Given the description of an element on the screen output the (x, y) to click on. 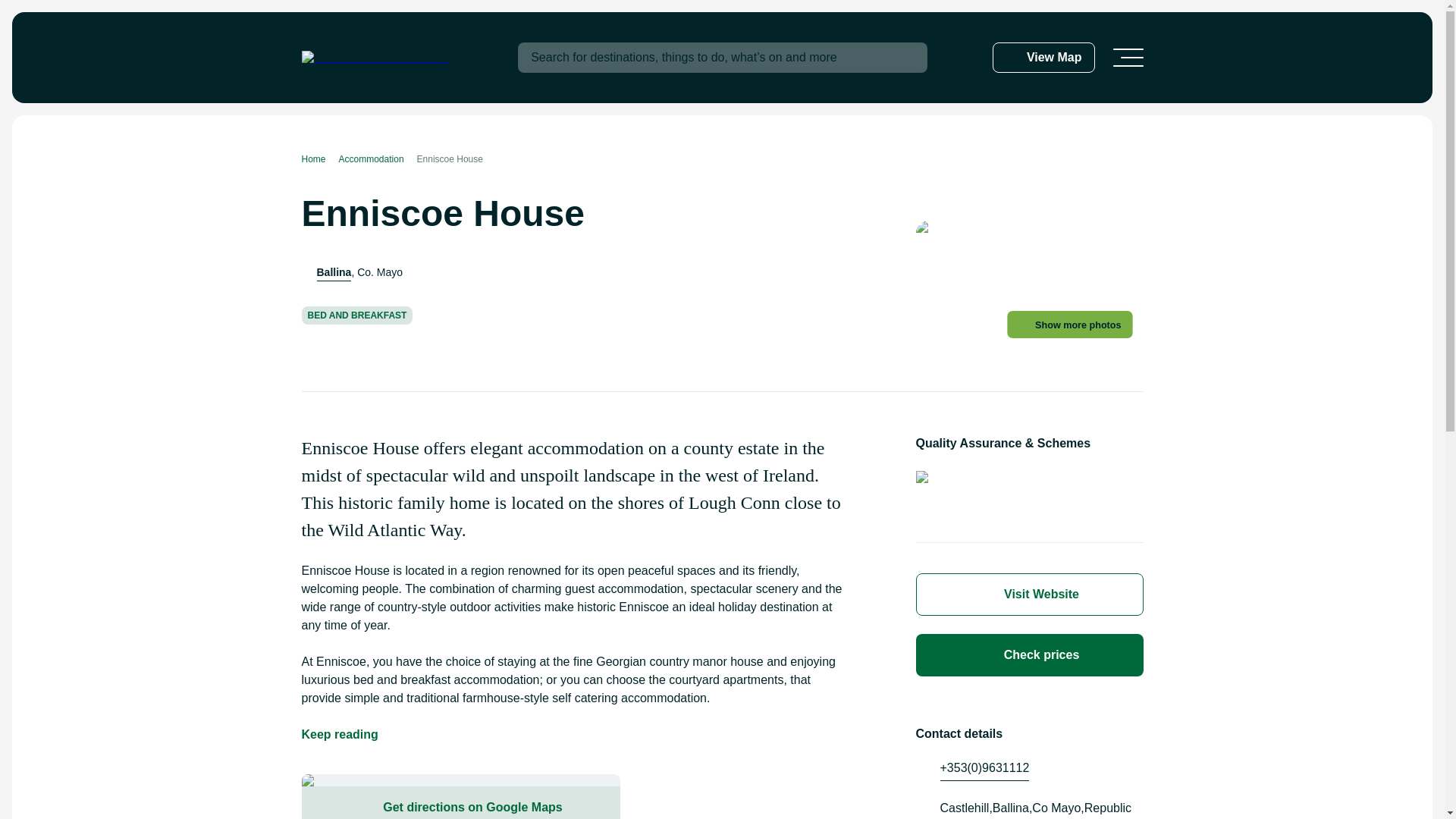
Accommodation (377, 158)
Show more photos (1077, 326)
Keep reading (339, 734)
View Map (1043, 57)
BED AND BREAKFAST (357, 315)
Get directions on Google Maps (460, 802)
Ballina (334, 272)
Visit Website (1028, 594)
Check prices (1028, 654)
Click to go back to the homepage (374, 57)
